Given the description of an element on the screen output the (x, y) to click on. 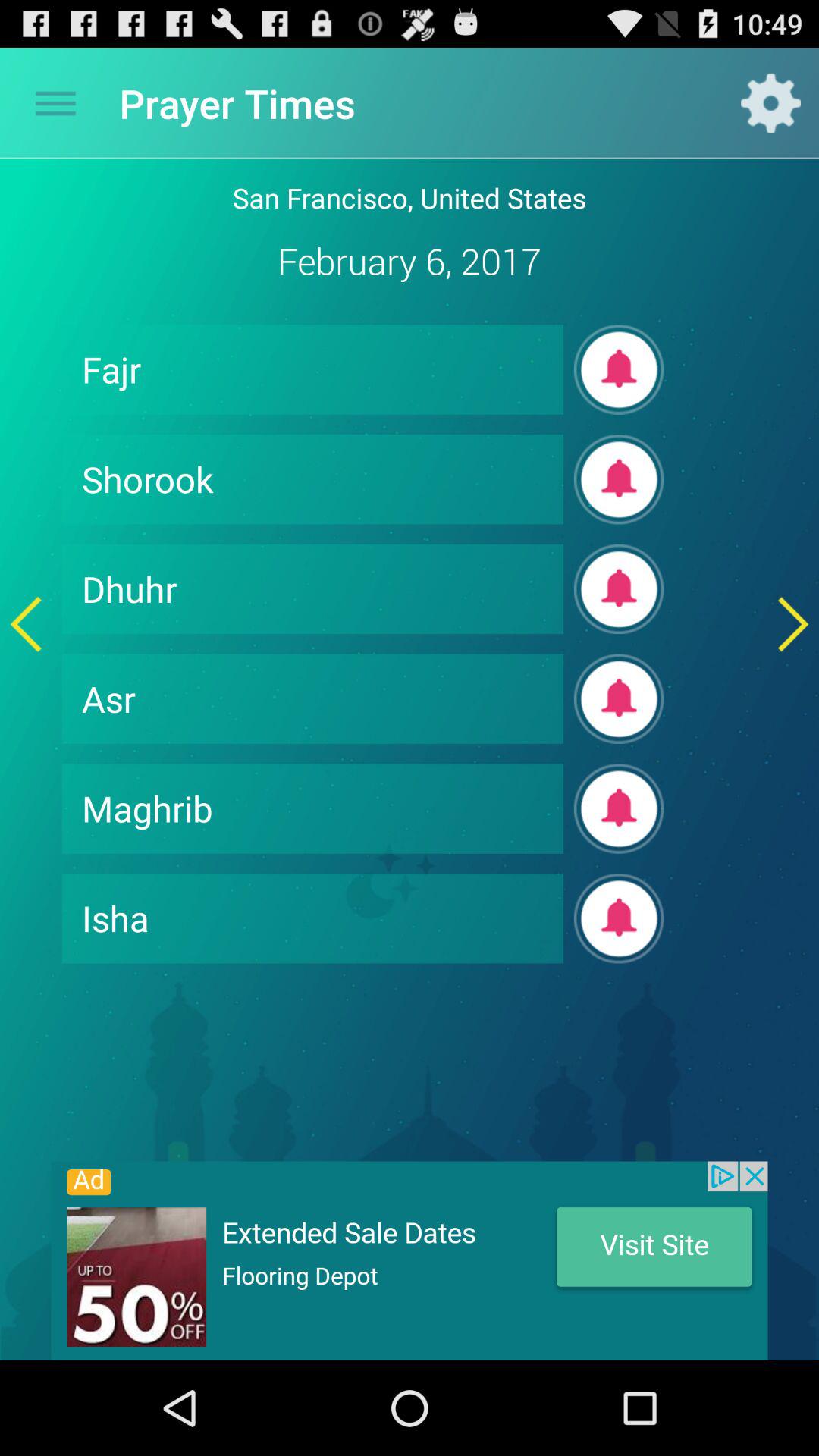
advertisement (409, 1260)
